Given the description of an element on the screen output the (x, y) to click on. 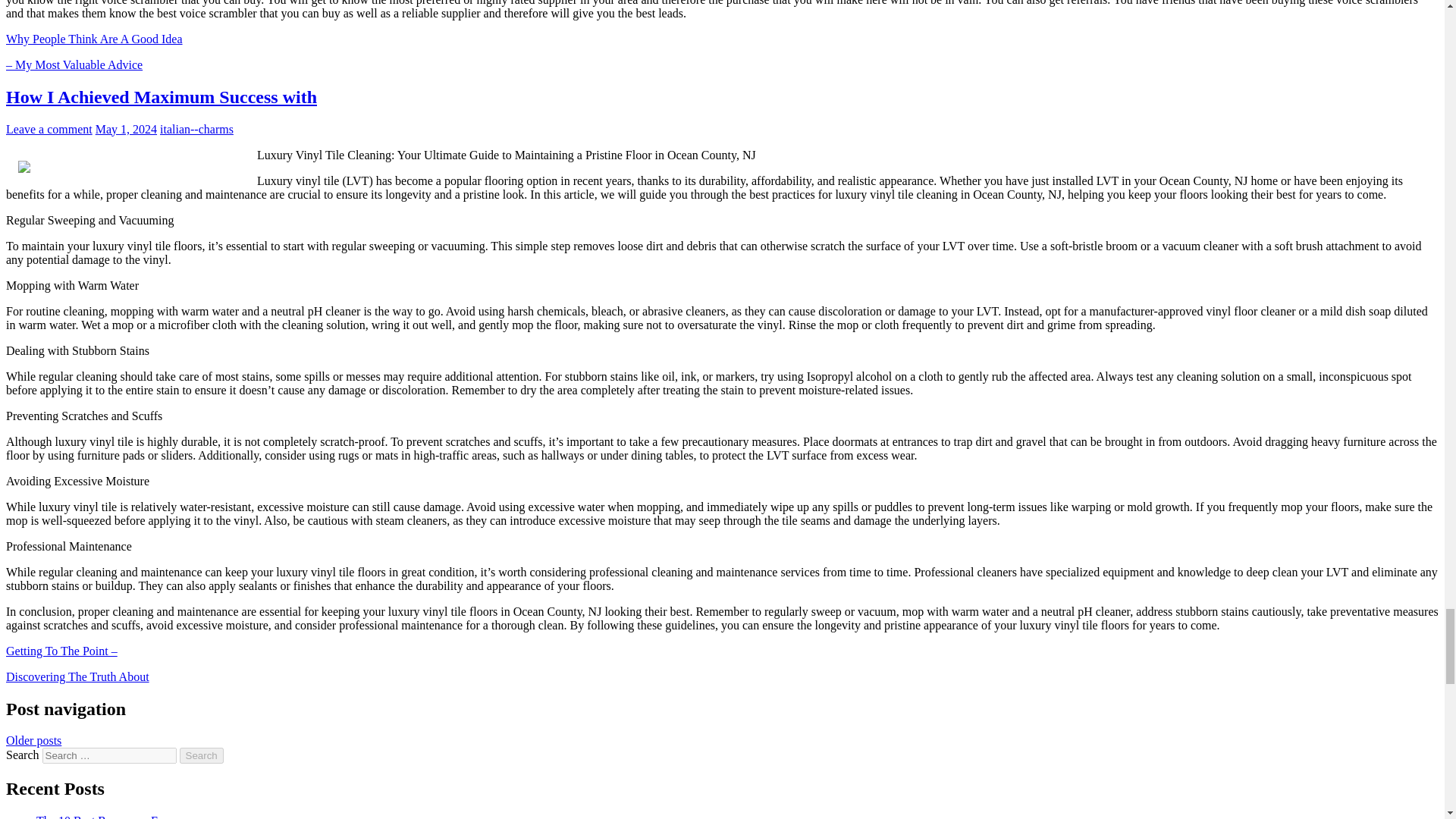
Search (201, 755)
